Given the description of an element on the screen output the (x, y) to click on. 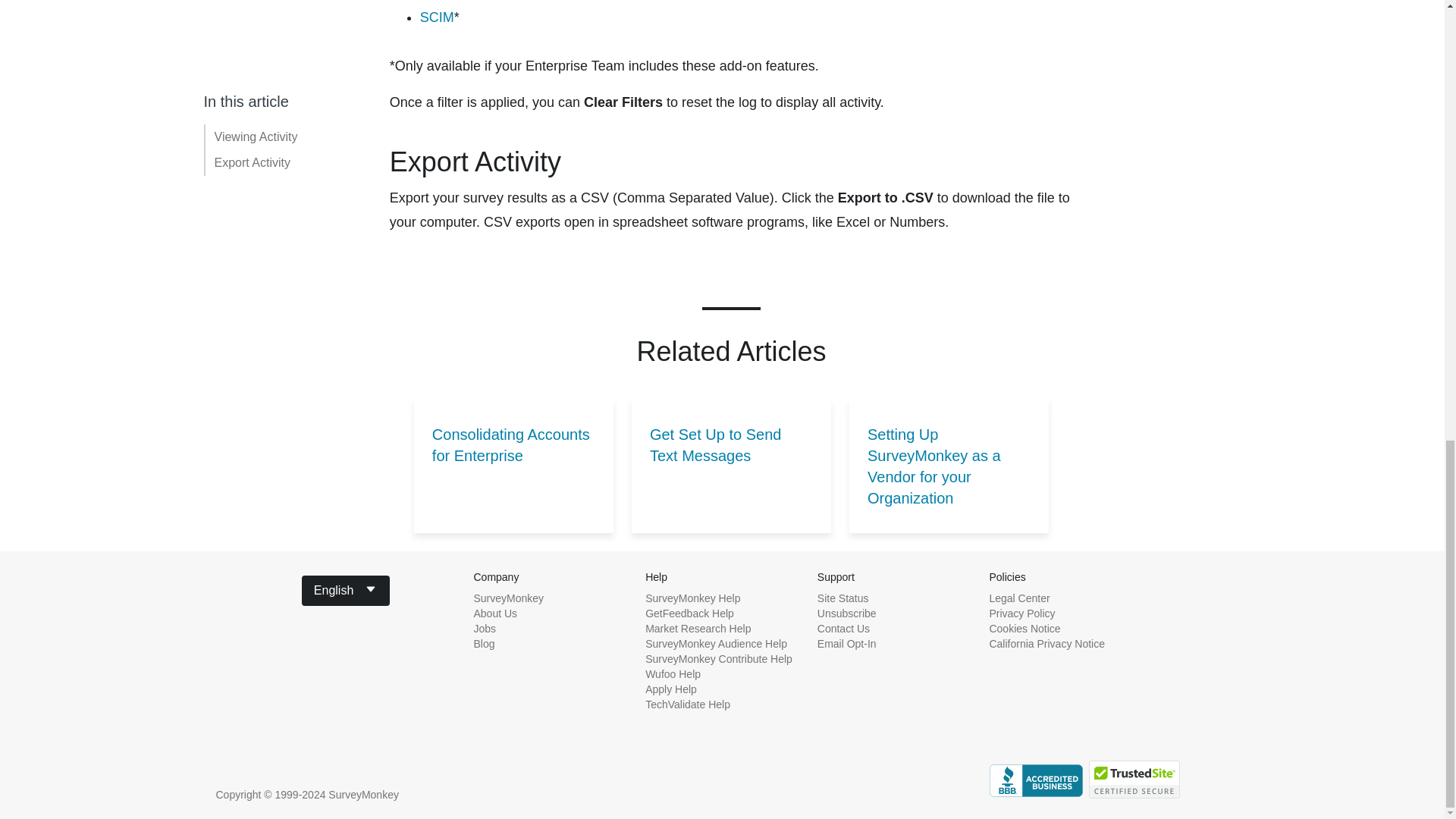
California Privacy Notice (1046, 644)
SurveyMonkey Audience Help (716, 644)
Blog (484, 644)
SurveyMonkey Contribute Help (718, 658)
TechValidate Help (687, 704)
SCIM (437, 17)
BBB credentials logo (1034, 780)
Contact Us (842, 628)
Setting Up SurveyMonkey as a Vendor for your Organization (948, 466)
Unsubscribe (846, 613)
